Given the description of an element on the screen output the (x, y) to click on. 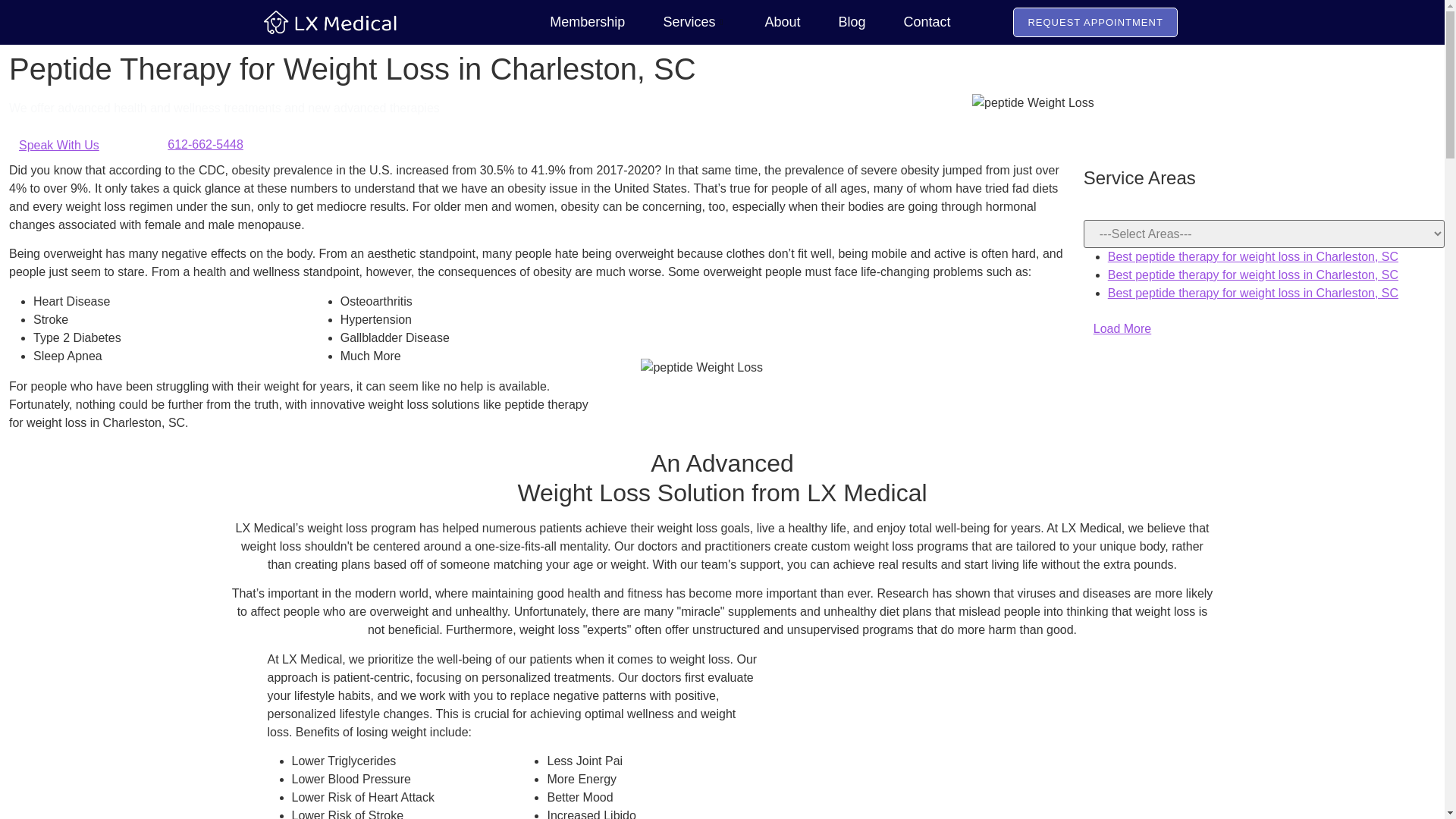
Membership (568, 21)
Services (675, 21)
phone-number (150, 145)
